Given the description of an element on the screen output the (x, y) to click on. 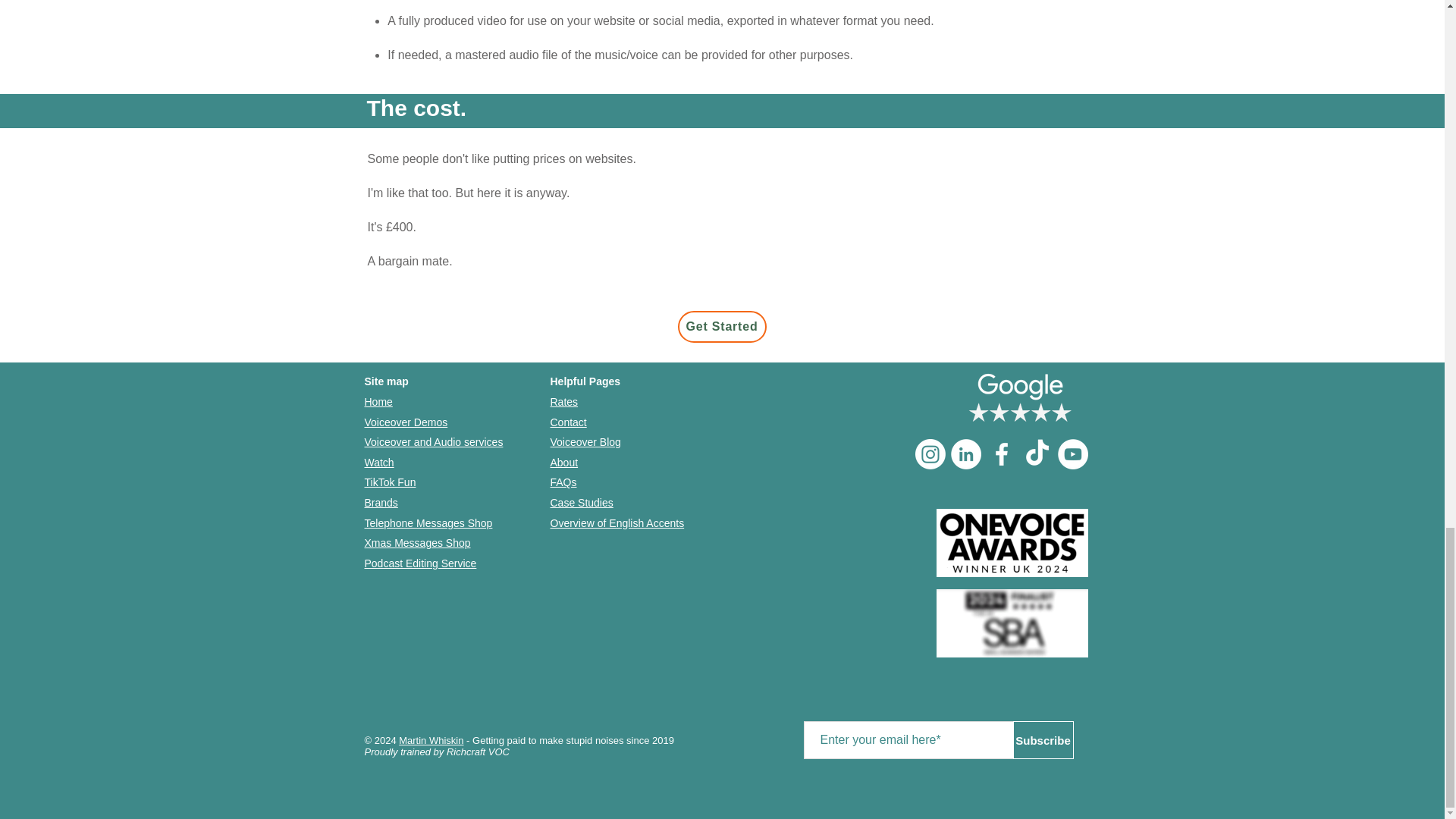
Watch (378, 462)
Martn WhiskinVoiceover Aertist is rated 5 stars on Google (1018, 398)
Brands (380, 502)
Voiceover Blog (585, 441)
FAQs (563, 481)
TikTok Fun (389, 481)
Get Started (722, 327)
Case Studies (581, 502)
Xmas Messages Shop (417, 542)
Home (377, 401)
